Given the description of an element on the screen output the (x, y) to click on. 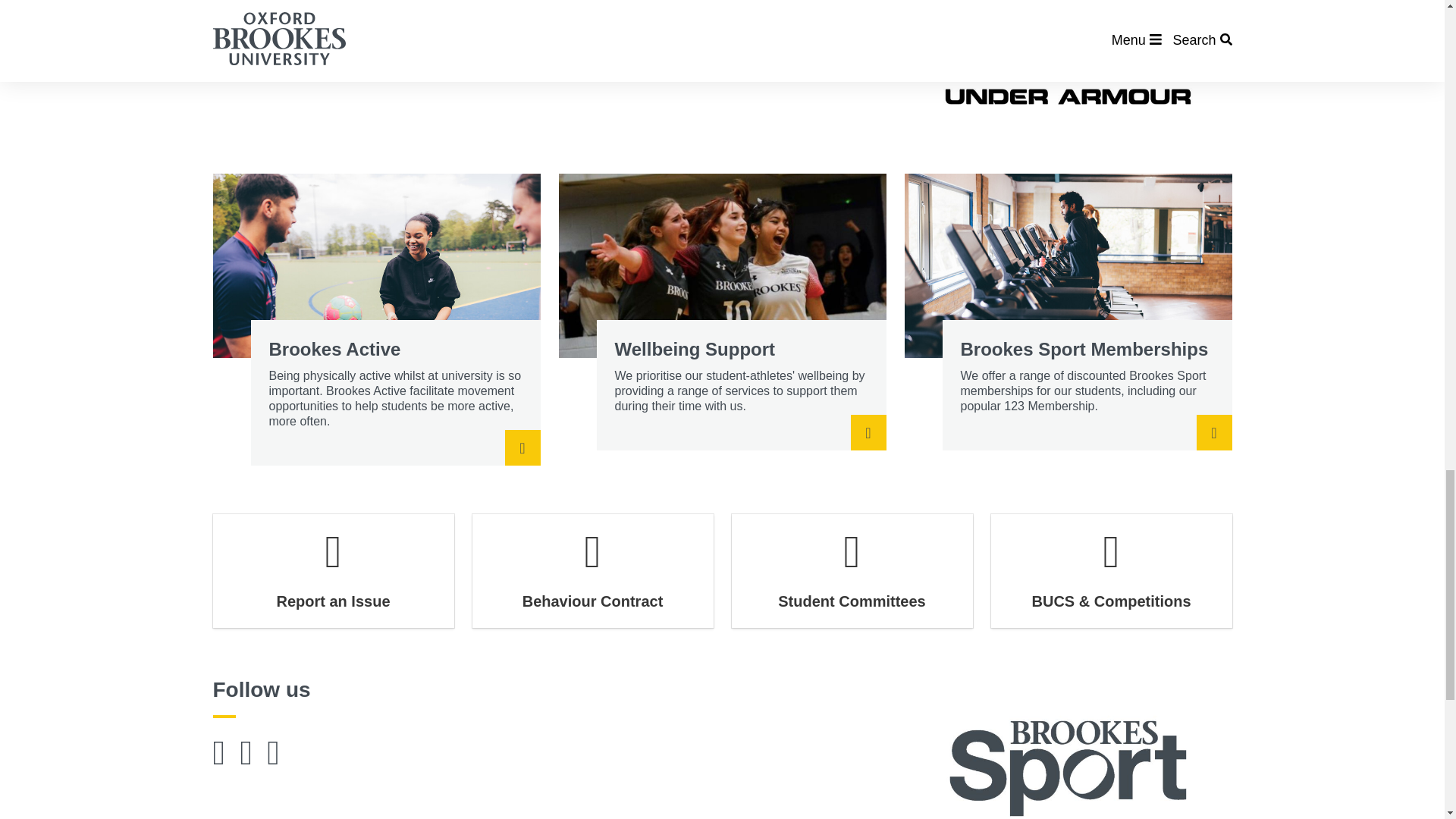
Wellbeing Support (721, 311)
Brookes Active (376, 319)
Brookes Sport Memberships (1067, 311)
